Given the description of an element on the screen output the (x, y) to click on. 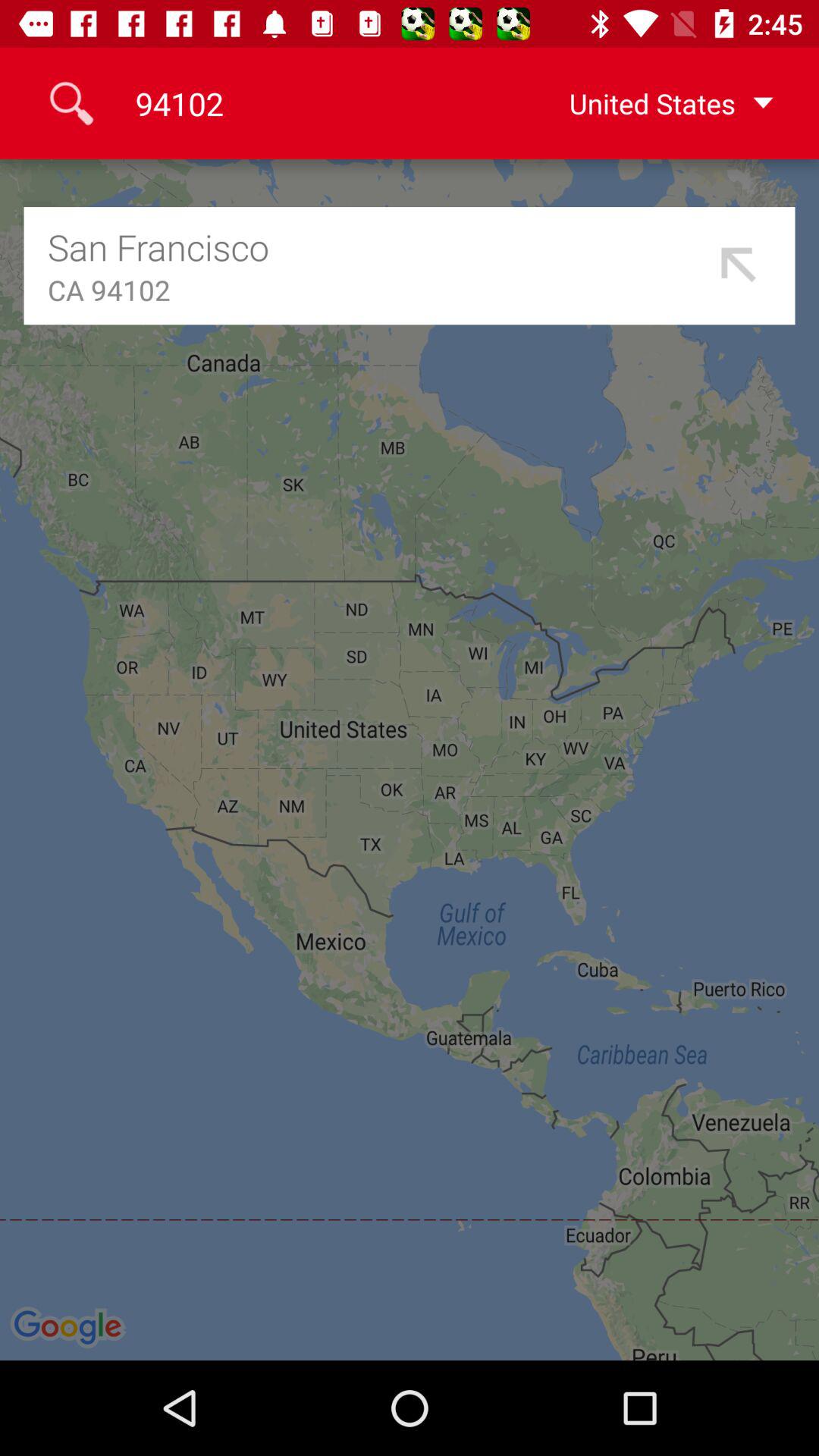
choose icon next to san francisco item (739, 265)
